Given the description of an element on the screen output the (x, y) to click on. 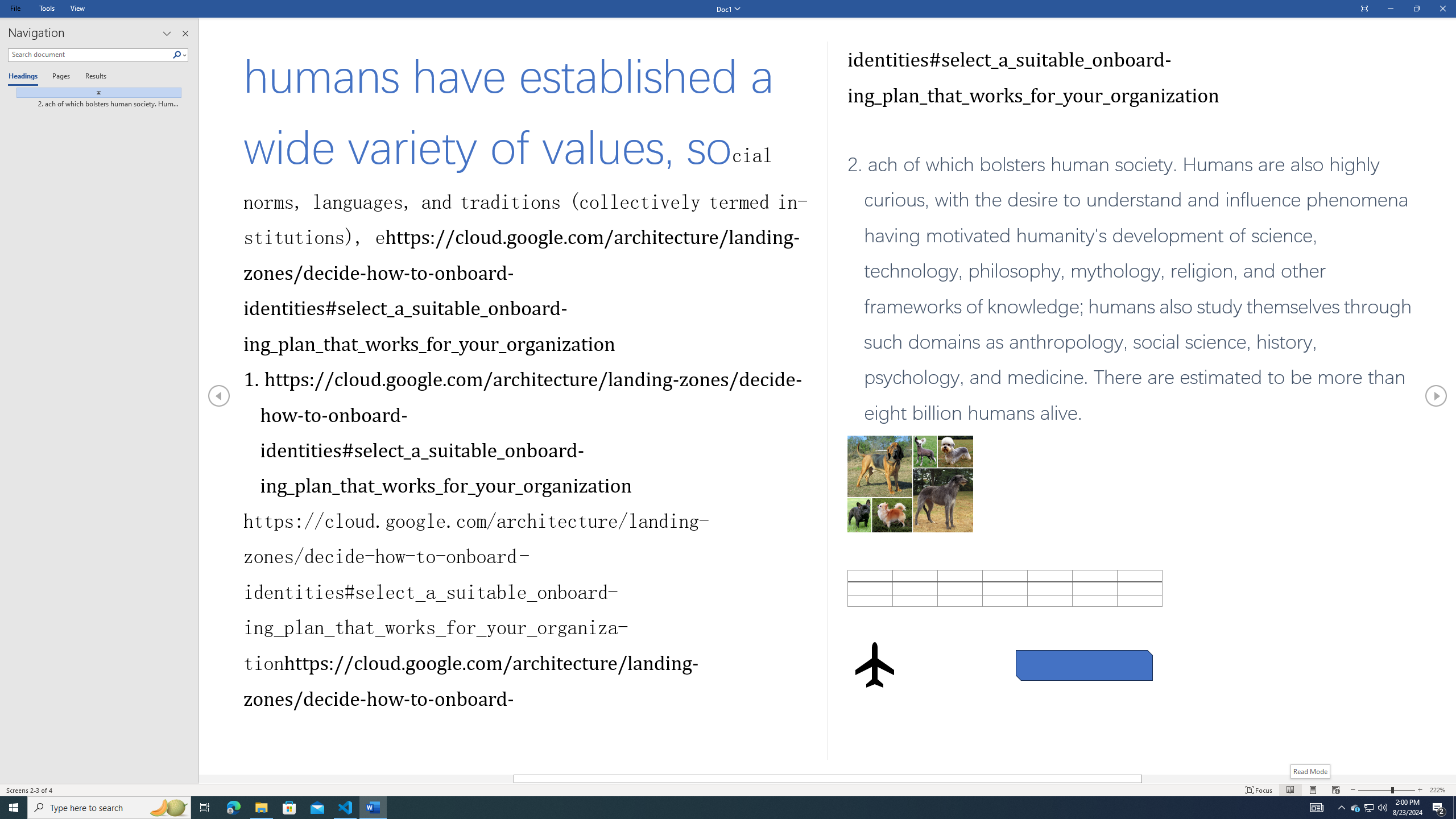
Tools (46, 8)
Text Size (1386, 790)
Decrease Text Size (1353, 790)
Auto-hide Reading Toolbar (1364, 9)
Morphological variation in six dogs (909, 307)
Jump to the beginning (94, 92)
Rectangle: Diagonal Corners Snipped 2 (1084, 665)
